Given the description of an element on the screen output the (x, y) to click on. 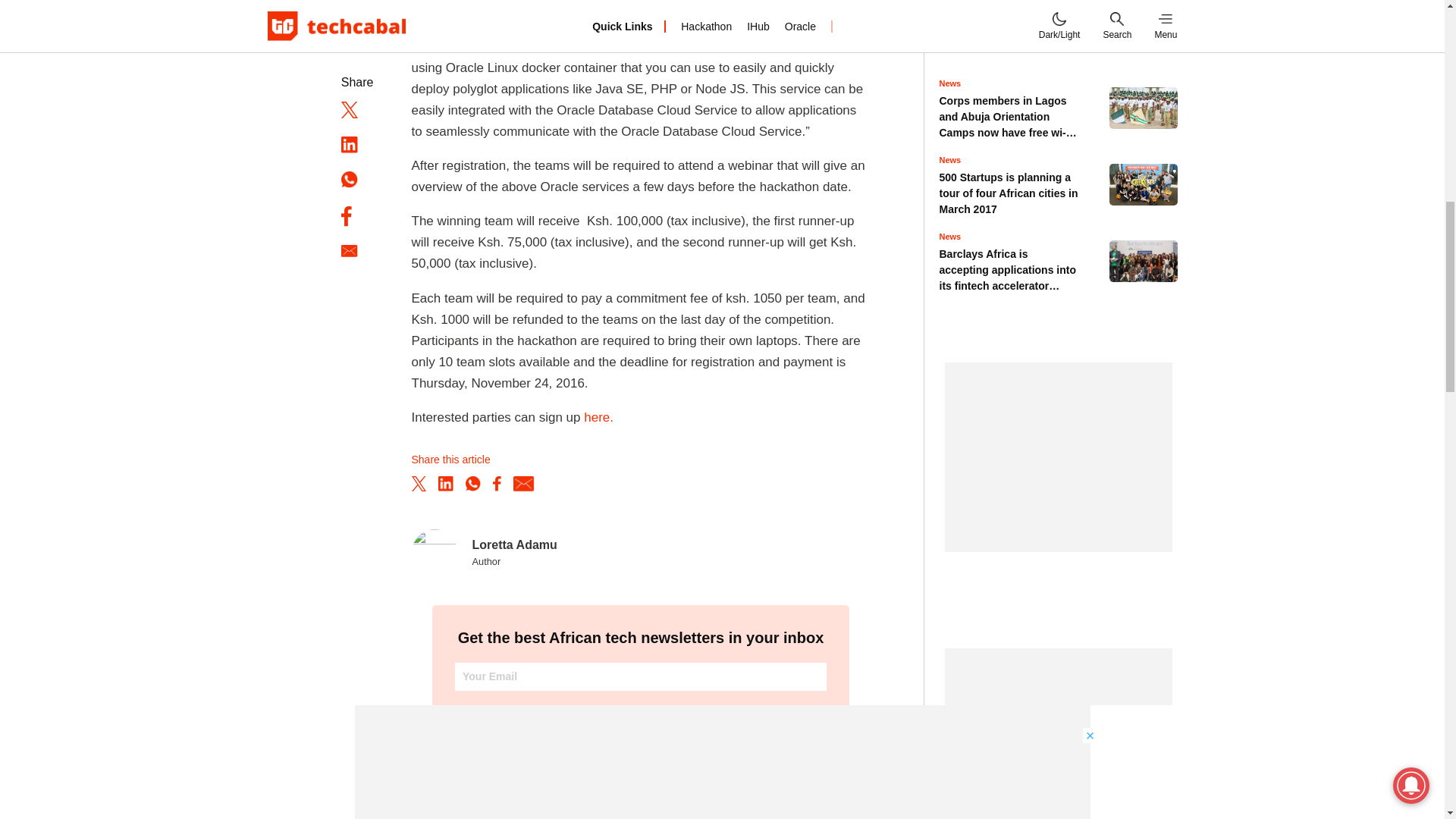
3rd party ad content (1058, 733)
3rd party ad content (1058, 457)
